Given the description of an element on the screen output the (x, y) to click on. 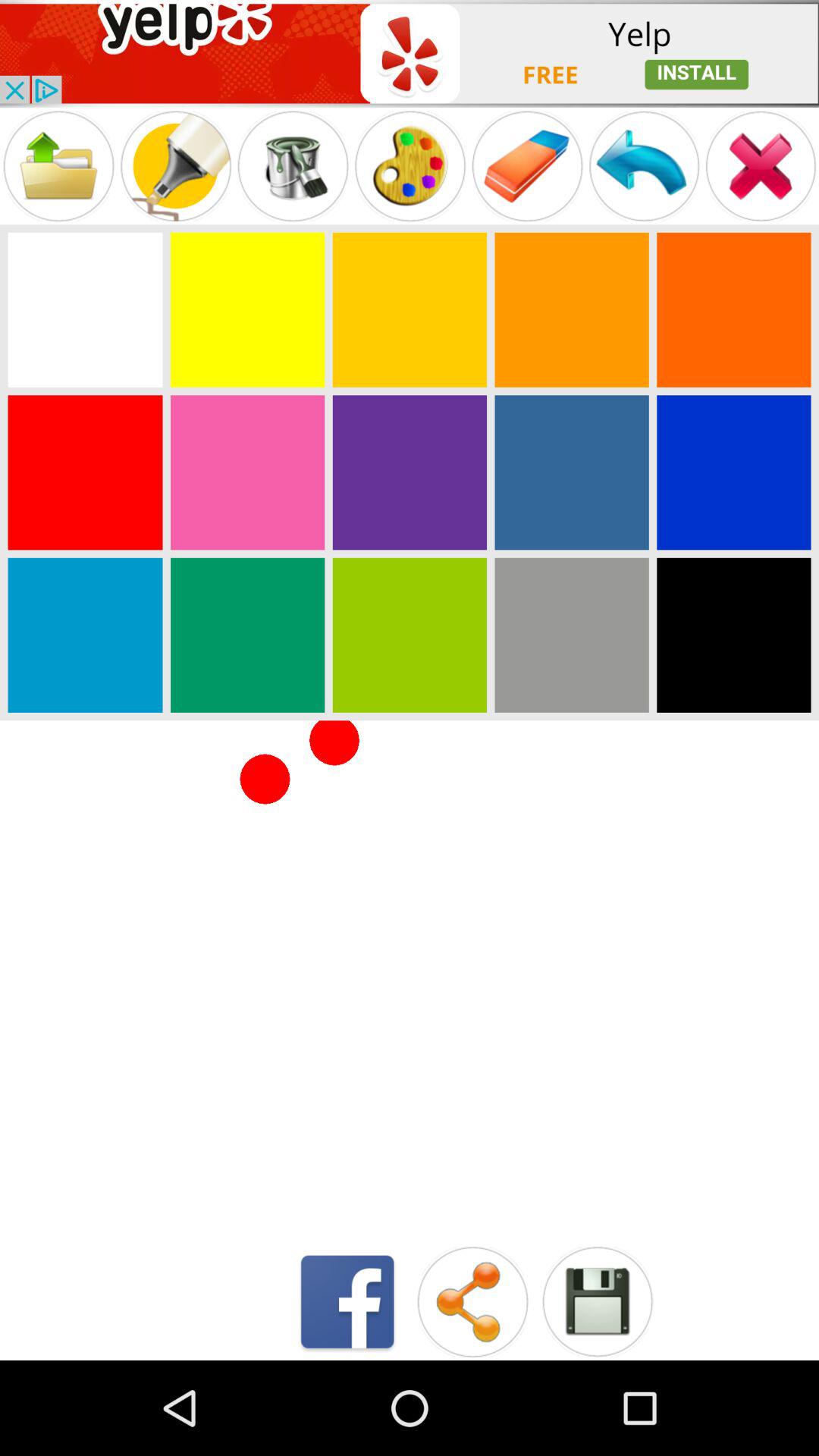
coloring page (84, 472)
